Given the description of an element on the screen output the (x, y) to click on. 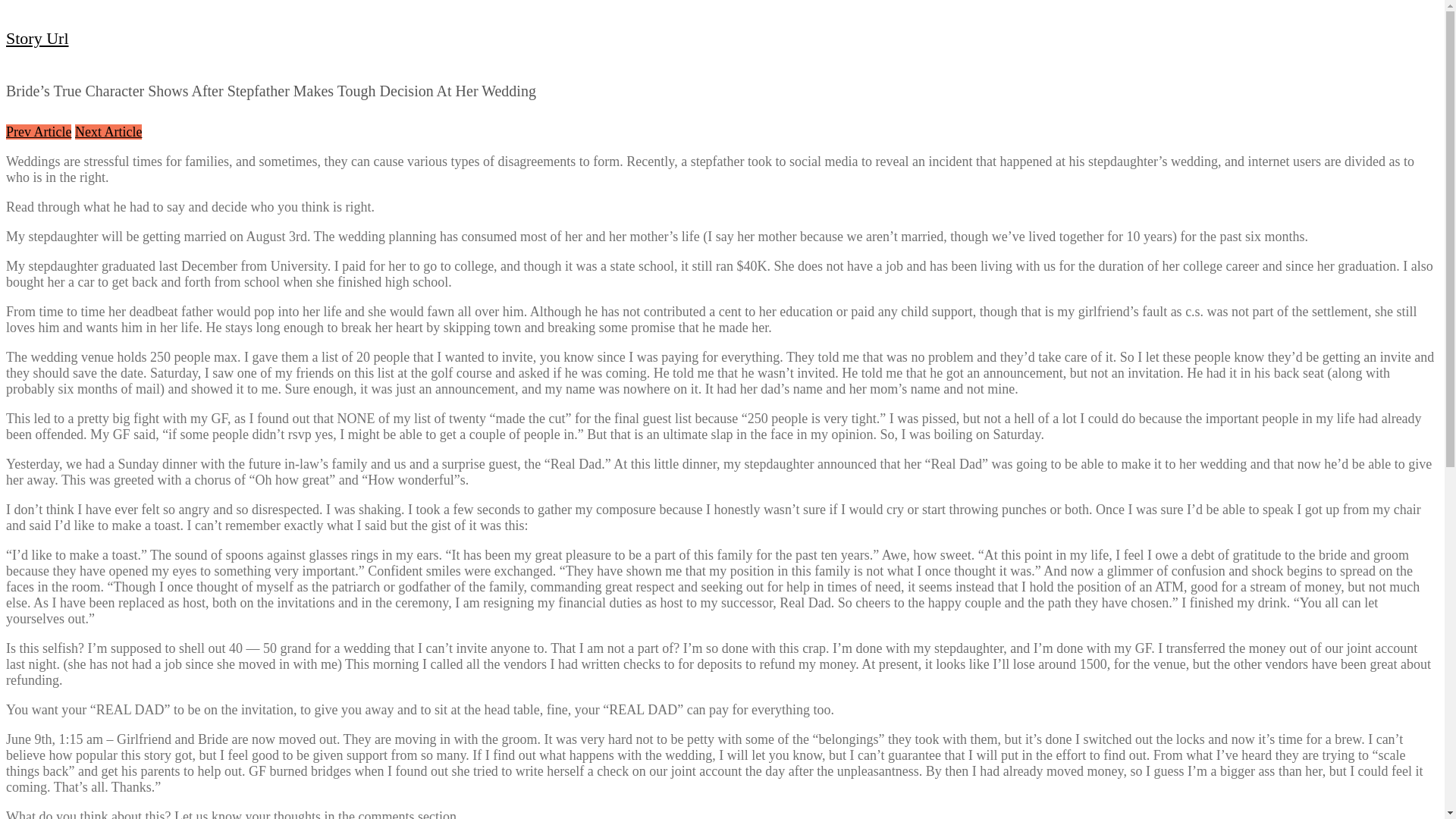
Next Article (108, 131)
Story Url (36, 37)
Prev Article (38, 131)
